Given the description of an element on the screen output the (x, y) to click on. 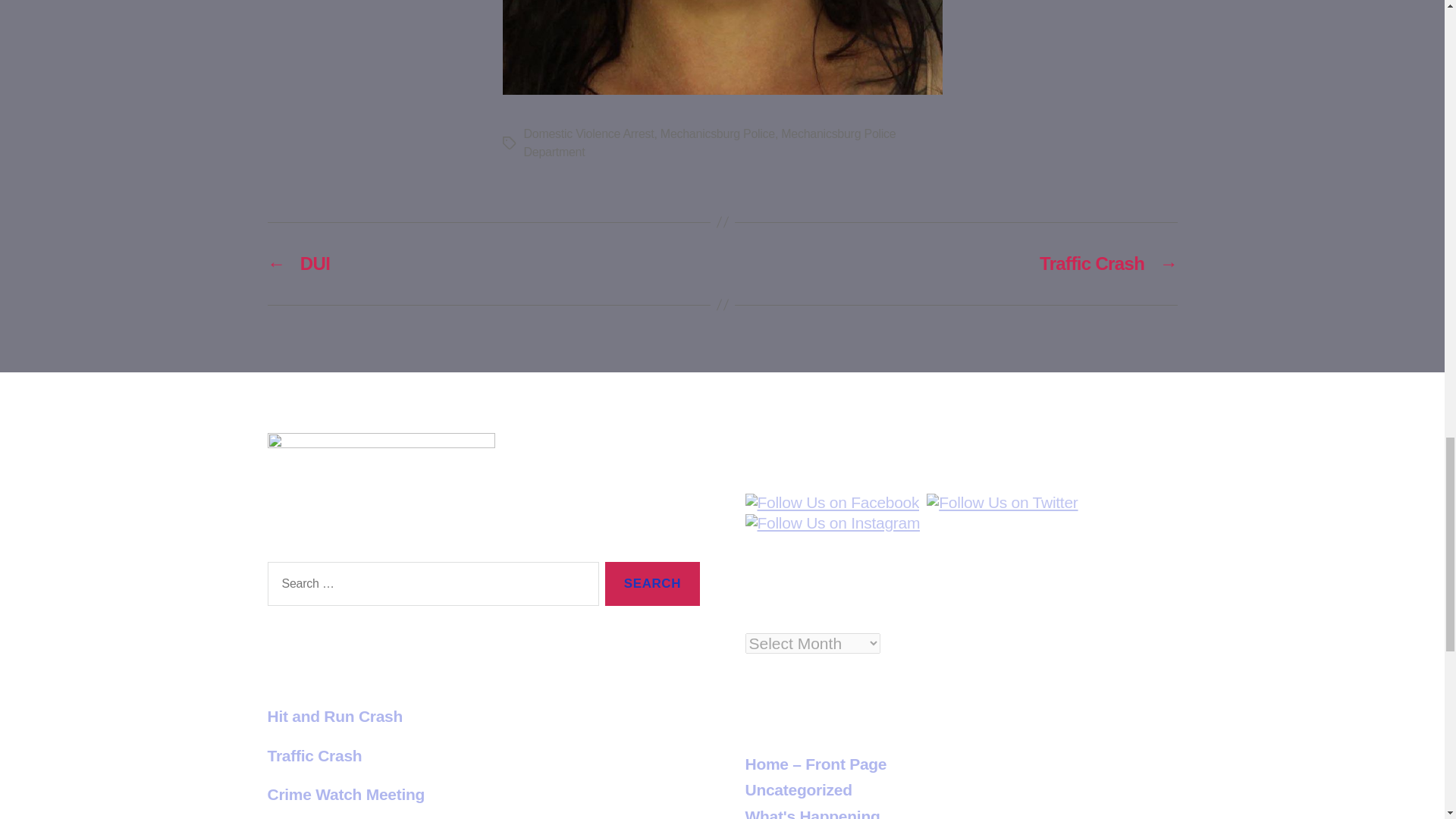
Search (651, 583)
Search (651, 583)
Follow Us on Instagram (832, 523)
Follow Us on Twitter (1001, 502)
Follow Us on Facebook (831, 502)
